Given the description of an element on the screen output the (x, y) to click on. 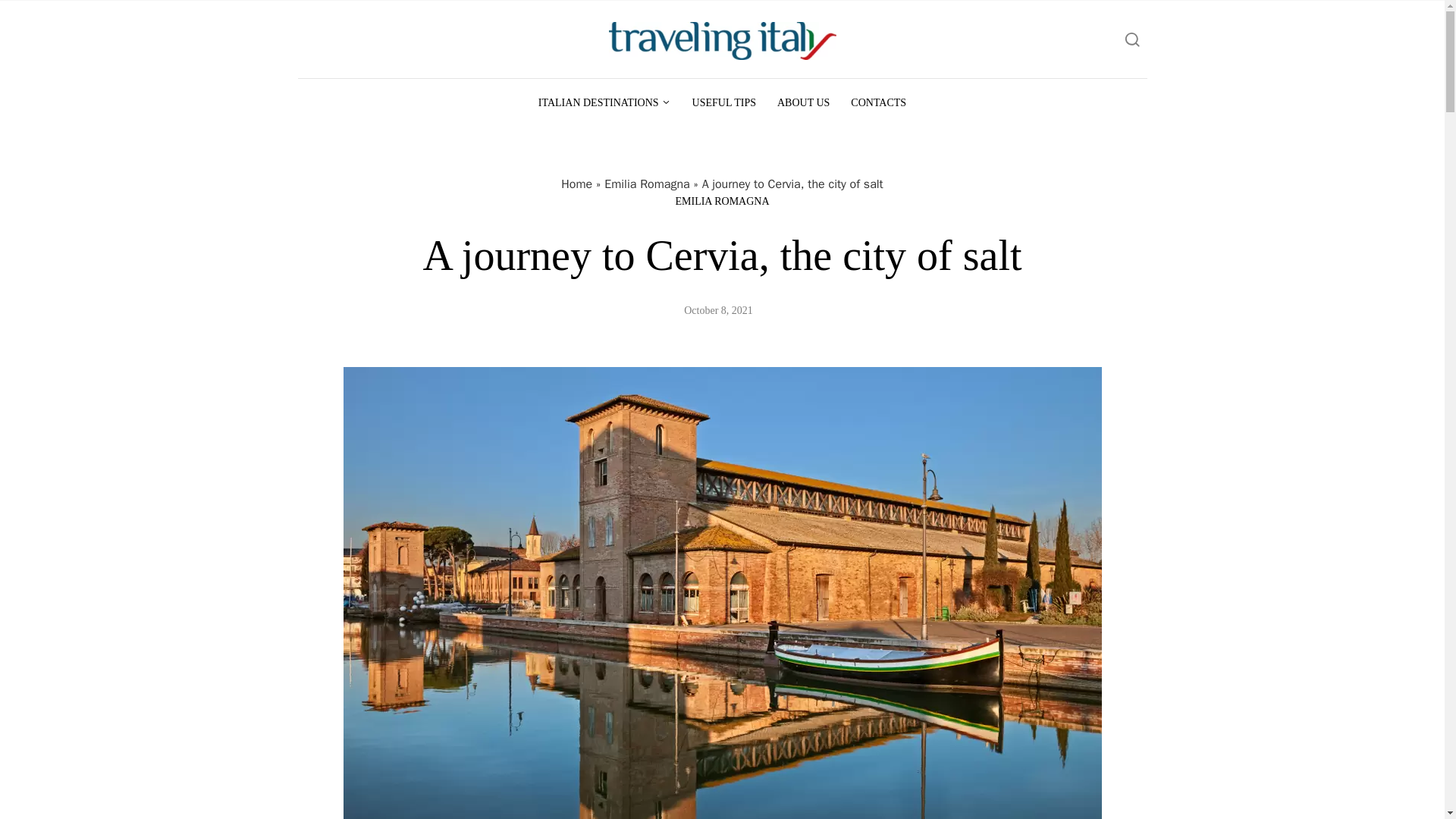
October 8, 2021 (718, 310)
ITALIAN DESTINATIONS (604, 101)
USEFUL TIPS (724, 101)
ABOUT US (803, 101)
CONTACTS (878, 101)
View all posts in Emilia Romagna (721, 201)
